Given the description of an element on the screen output the (x, y) to click on. 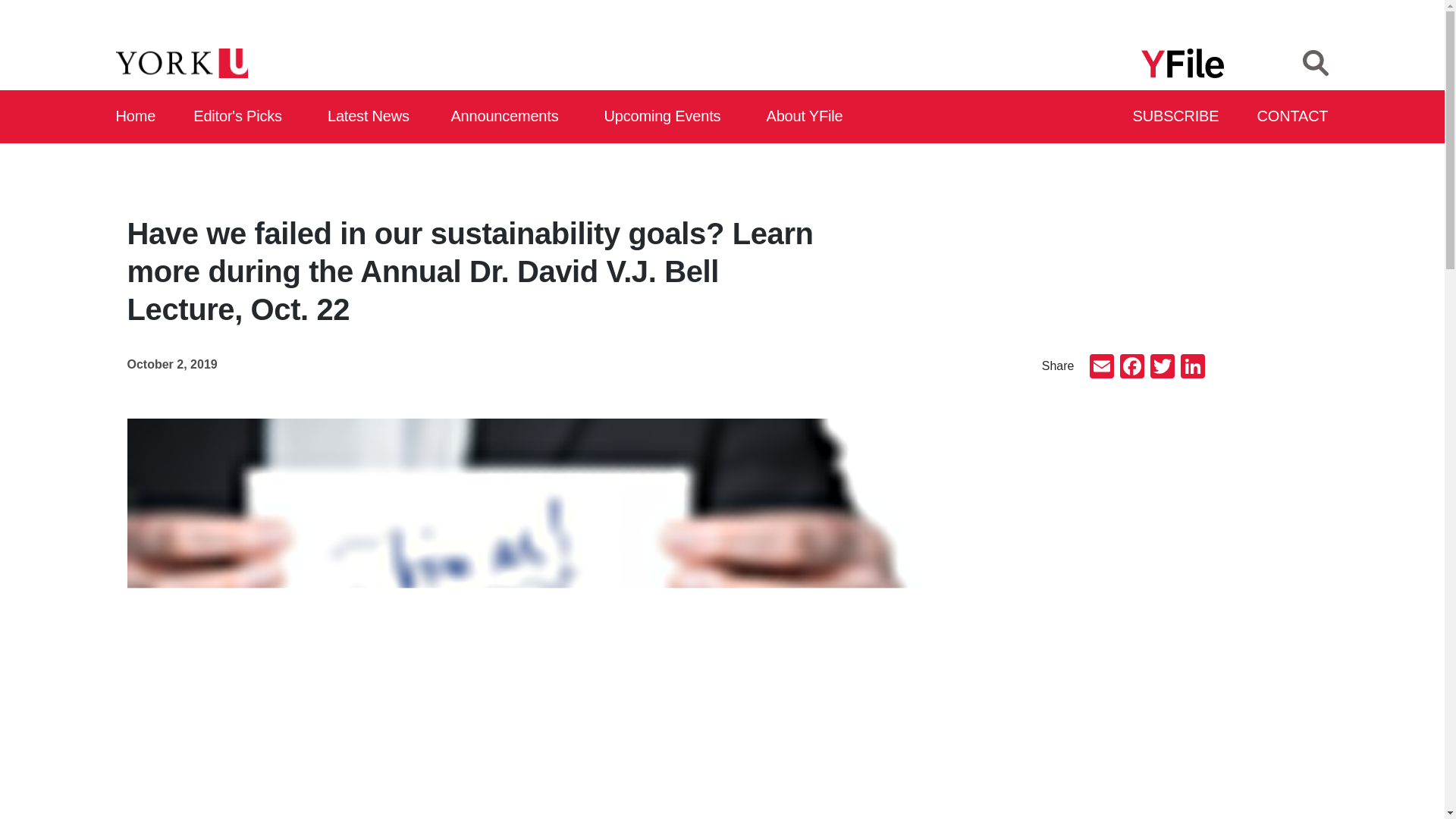
Twitter (1161, 367)
Email (1101, 367)
Subscribe (1176, 116)
About YFile (806, 116)
LinkedIn (1191, 367)
About YFile (806, 116)
Editor's Picks (242, 116)
Latest News (370, 116)
LinkedIn (1191, 367)
Editor's Picks (242, 116)
